Given the description of an element on the screen output the (x, y) to click on. 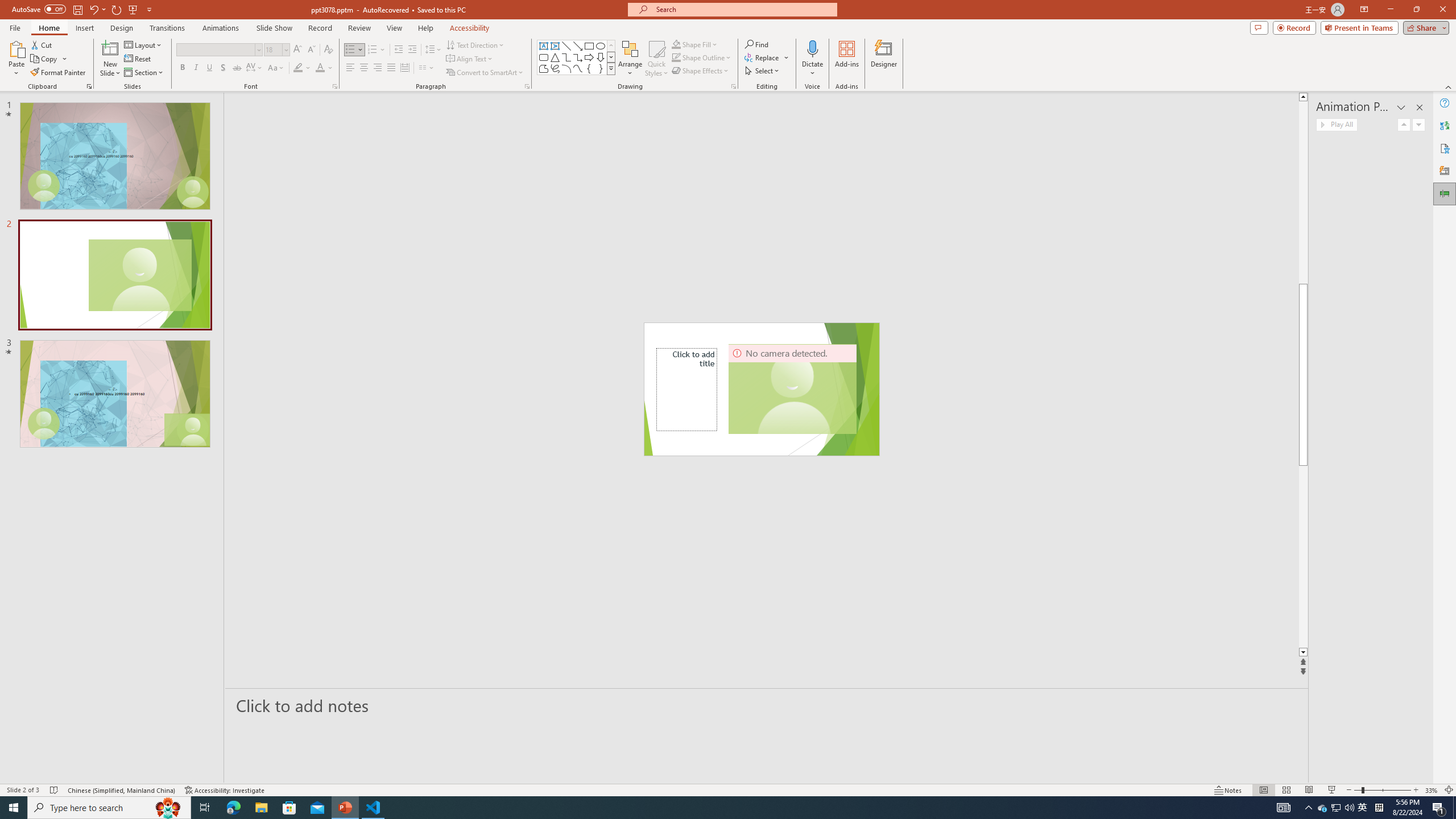
Decrease Indent (398, 49)
Close pane (1419, 107)
Left Brace (589, 68)
Underline (209, 67)
Dictate (812, 58)
Font Size (276, 49)
Text Highlight Color Yellow (297, 67)
Accessibility Checker Accessibility: Investigate (224, 790)
Designer (1444, 170)
Shadow (223, 67)
Class: MsoCommandBar (728, 789)
Layout (143, 44)
Slide Notes (766, 705)
Animation Pane (1444, 193)
